Given the description of an element on the screen output the (x, y) to click on. 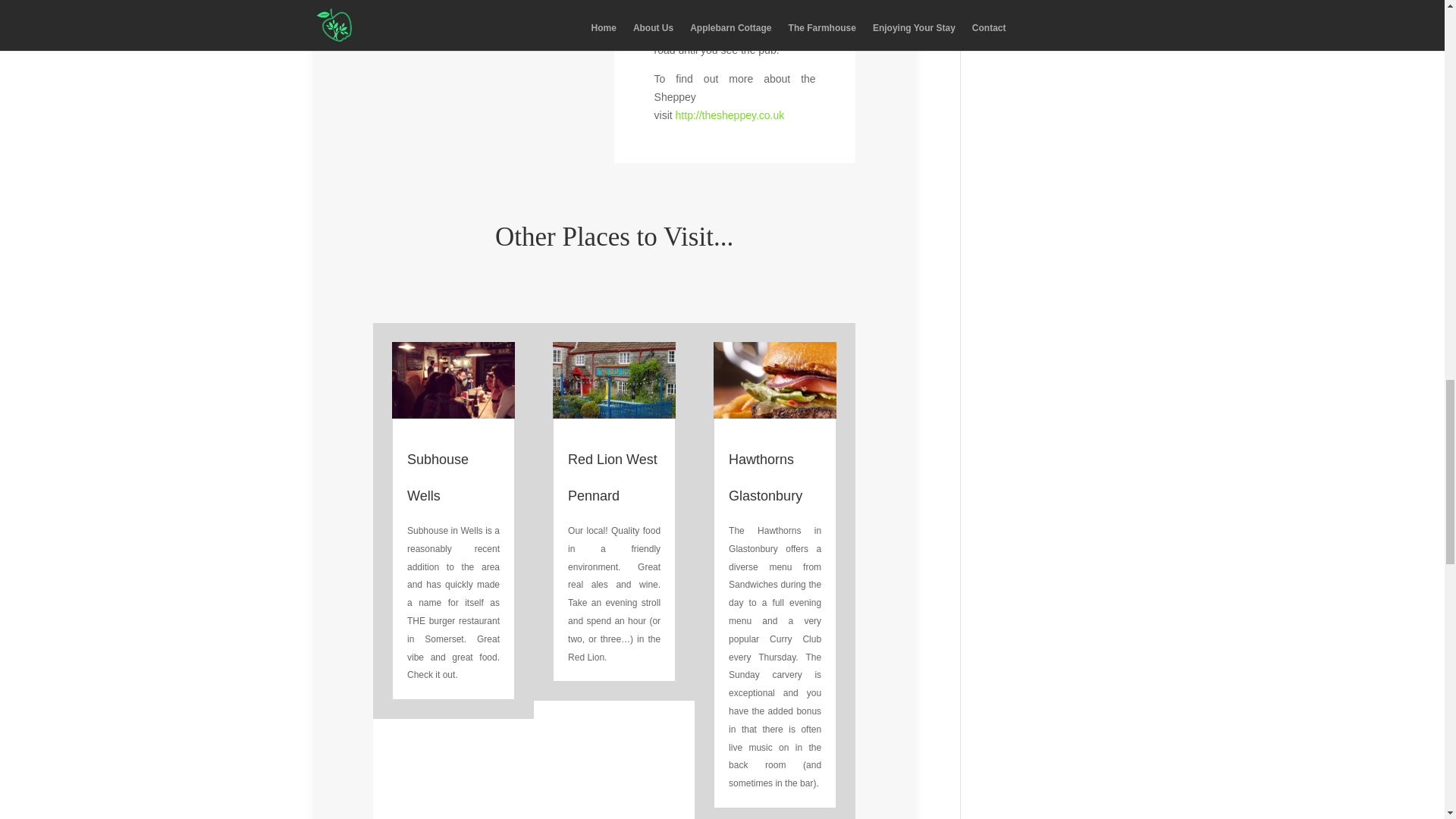
Red Lion West Pennard (612, 478)
Hawthorns Glastonbury (765, 478)
Subhouse Wells (437, 478)
